Given the description of an element on the screen output the (x, y) to click on. 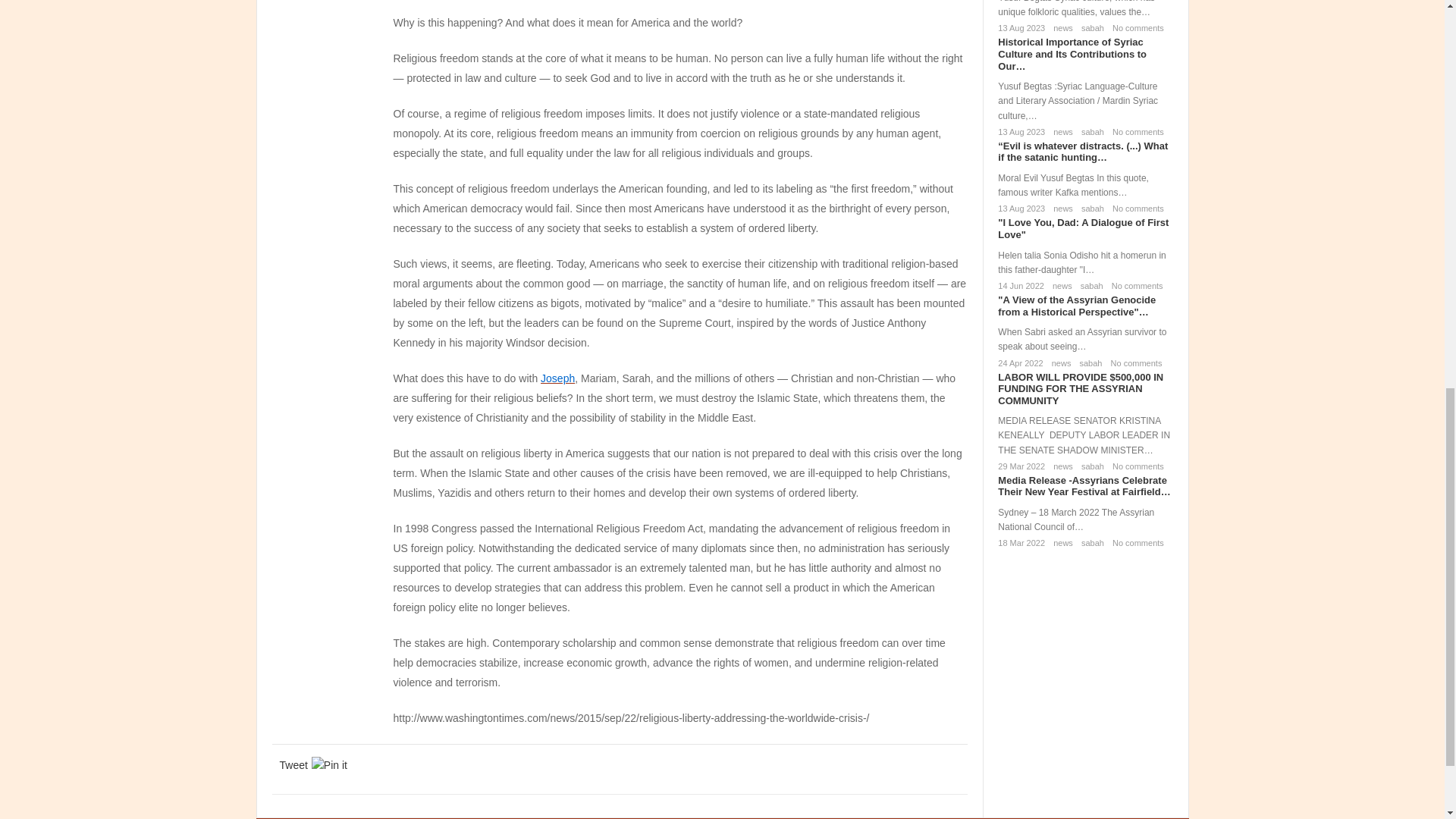
Joseph (557, 378)
I Love You, Dad: A Dialogue of First Love (1083, 228)
Pin it (329, 764)
Tweet (293, 764)
